Given the description of an element on the screen output the (x, y) to click on. 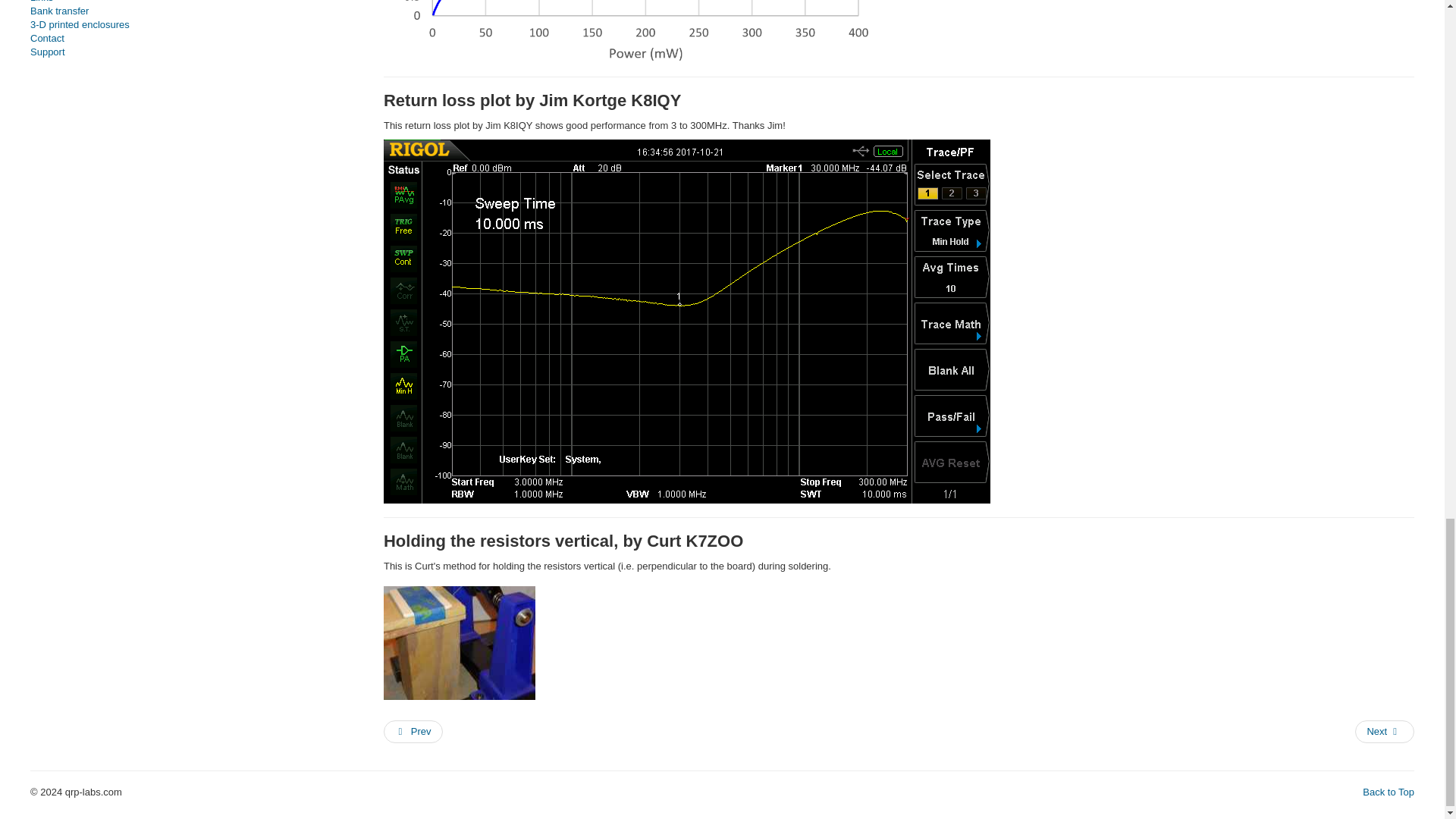
You are viewing the image with filename k7zoo.jpg (459, 643)
